Given the description of an element on the screen output the (x, y) to click on. 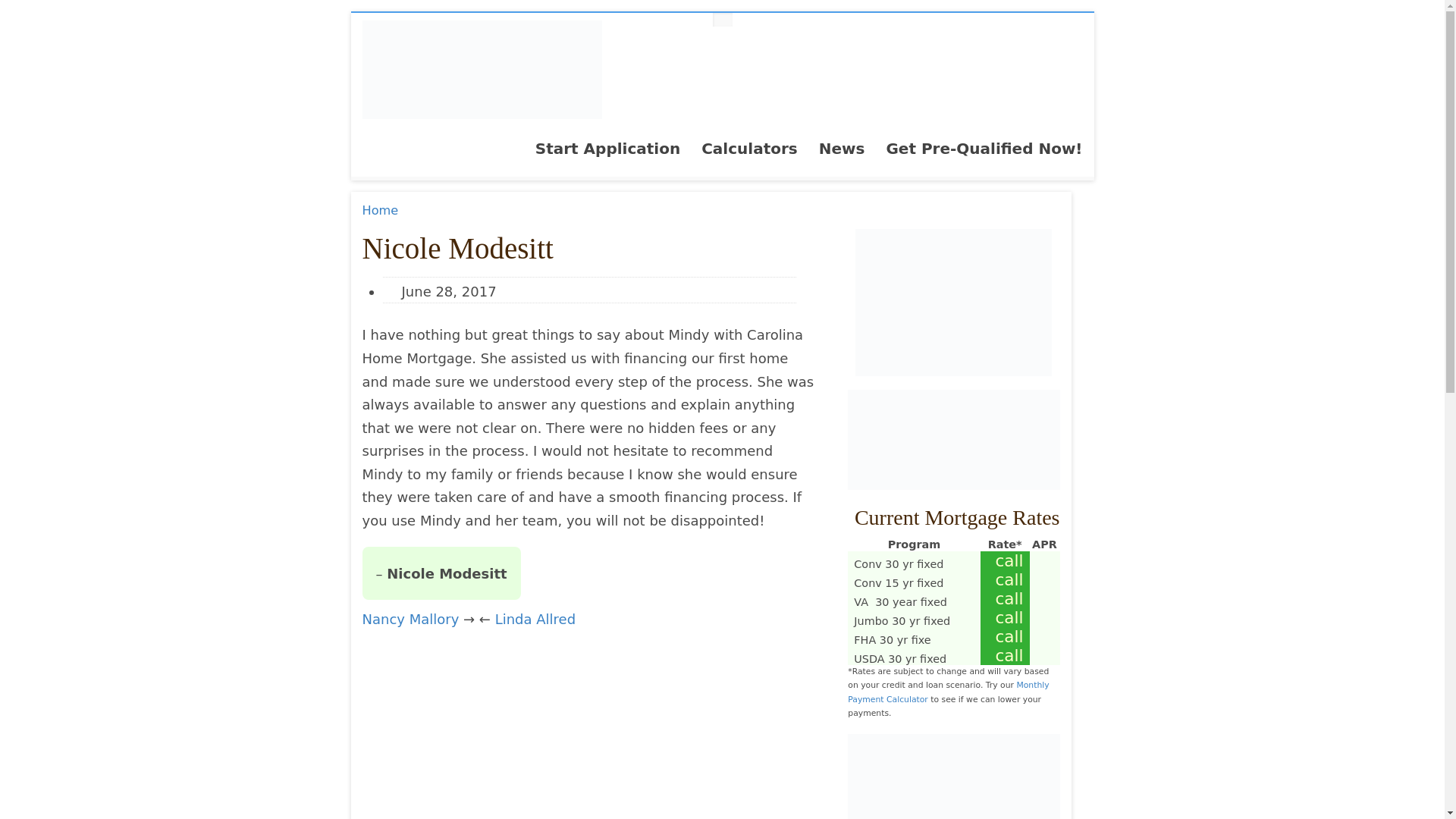
Linda Allred (535, 618)
Nancy Mallory (411, 618)
Home (380, 210)
Start Application (607, 153)
Calculators (749, 153)
Get Pre-Qualified Now! (983, 153)
Monthly Payment Calculator (947, 691)
No down payment, income limits by county (899, 658)
Initial rate fixed for 5 years, then adjusts annually (900, 602)
News (841, 153)
